Given the description of an element on the screen output the (x, y) to click on. 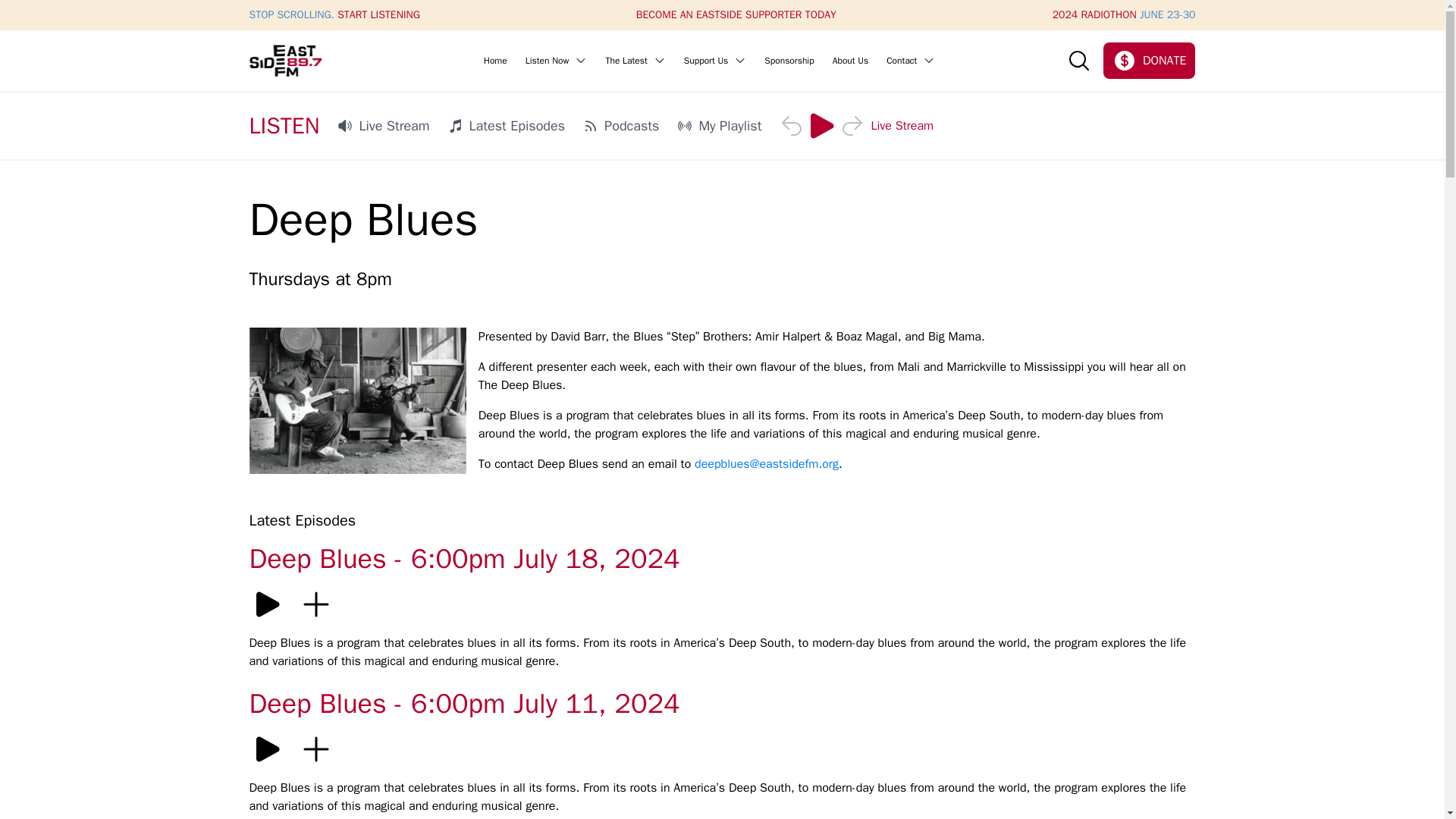
Latest Episodes (507, 125)
SEARCH (1078, 60)
Support Us (714, 60)
Deep Blues - 6:00pm July 11, 2024 (721, 709)
Deep Blues - 6:00pm July 18, 2024 (721, 564)
My Playlist (719, 125)
The Latest (635, 60)
Home (494, 60)
DONATE (1149, 60)
Live Stream (383, 125)
Podcasts (621, 125)
Contact (910, 60)
Sponsorship (788, 60)
About Us (849, 60)
Listen Now (556, 60)
